Given the description of an element on the screen output the (x, y) to click on. 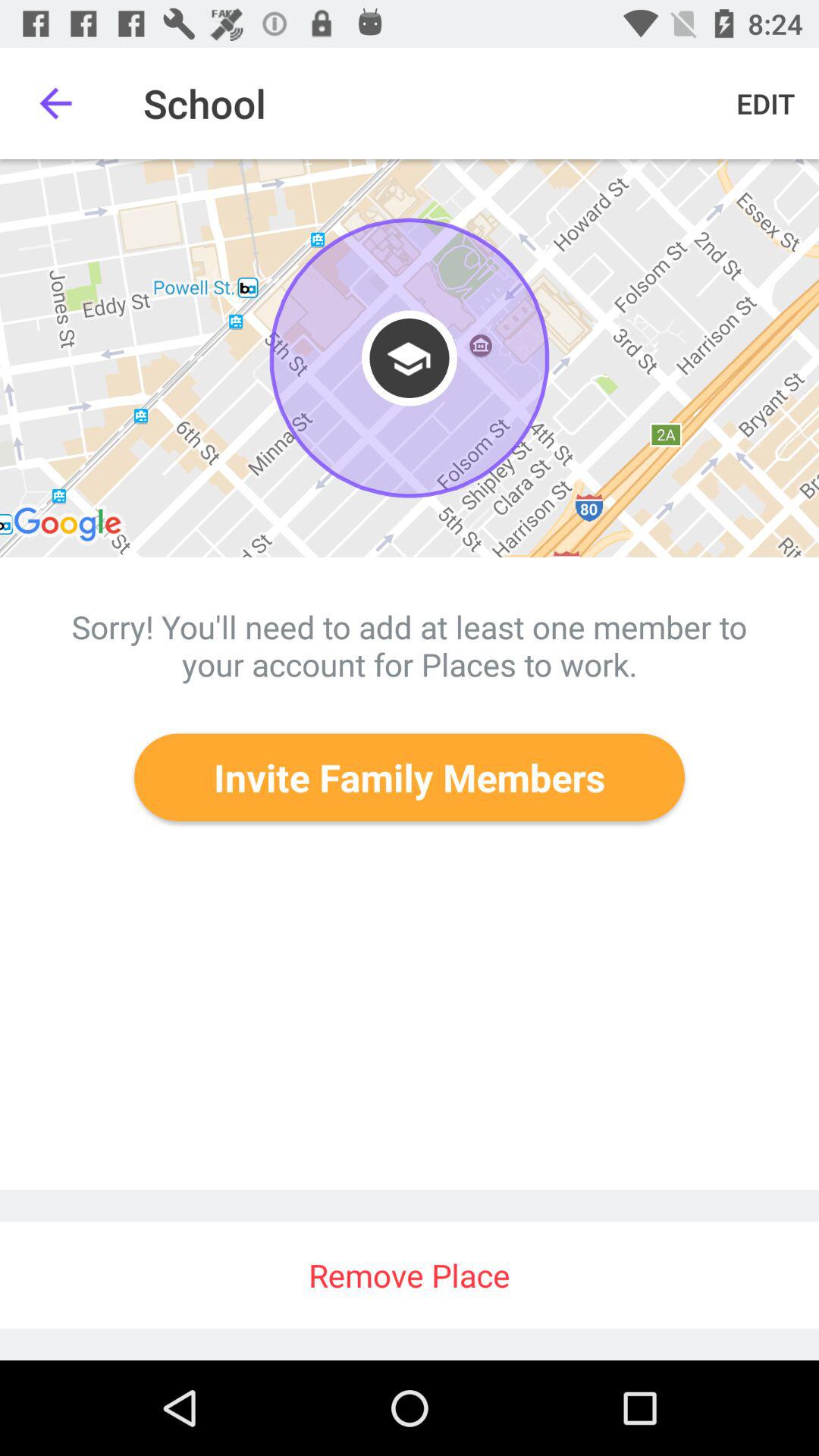
choose remove place icon (409, 1274)
